Given the description of an element on the screen output the (x, y) to click on. 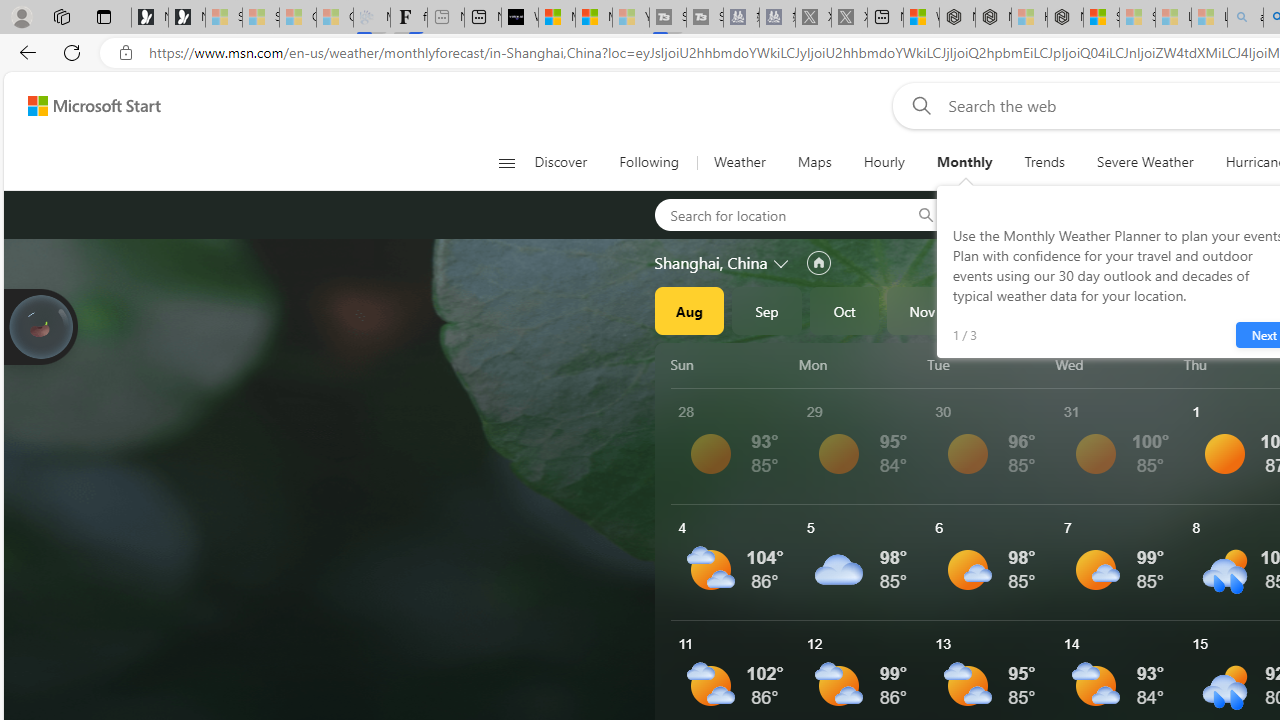
Open navigation menu (506, 162)
Monthly (964, 162)
Mon (859, 363)
Shanghai, China (711, 263)
Set as primary location (818, 263)
amazon - Search - Sleeping (1245, 17)
See More Details (1120, 561)
